Given the description of an element on the screen output the (x, y) to click on. 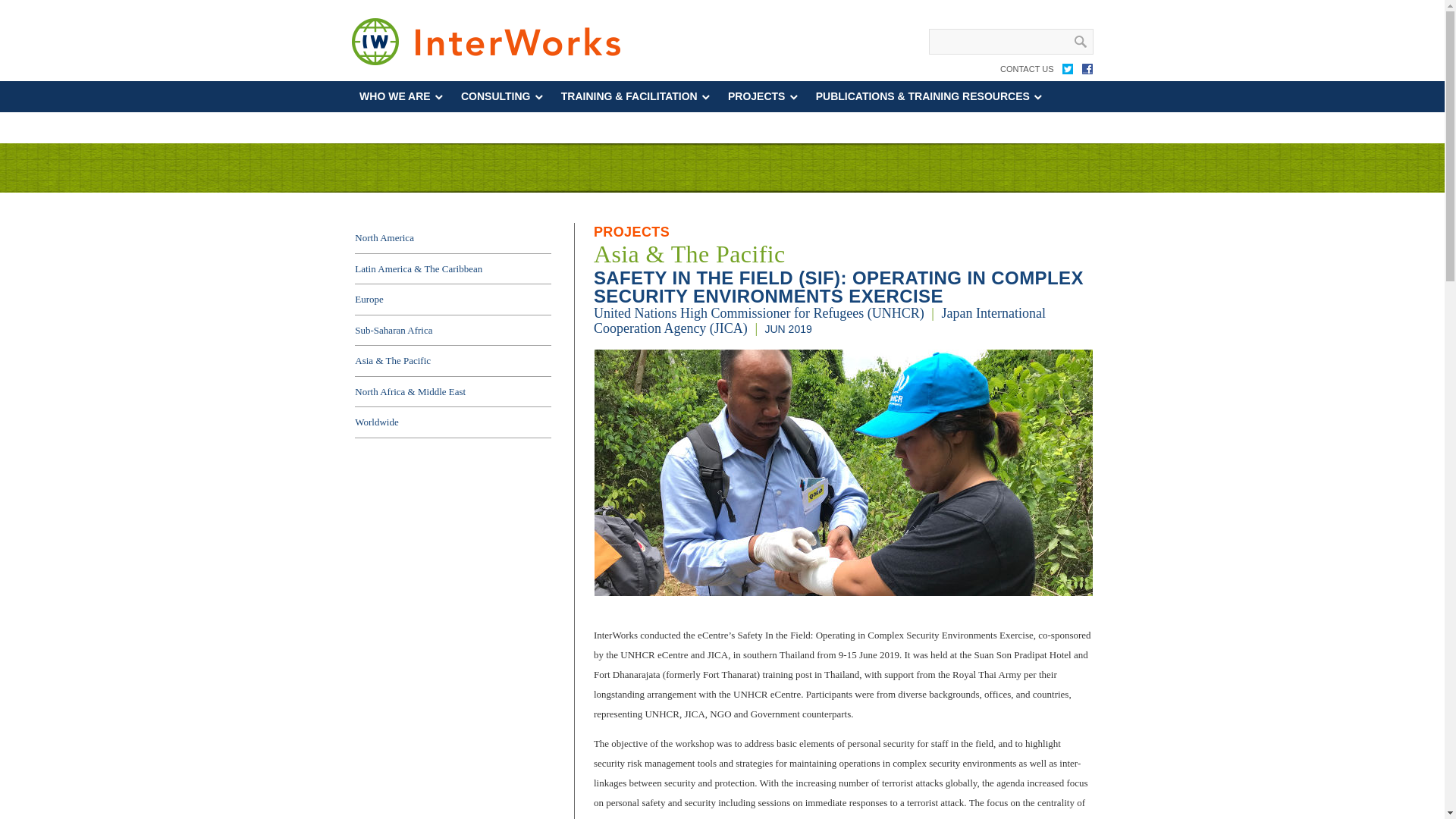
CONTACT US (1027, 72)
CONSULTING (502, 96)
WHO WE ARE (402, 96)
PROJECTS (763, 96)
